Given the description of an element on the screen output the (x, y) to click on. 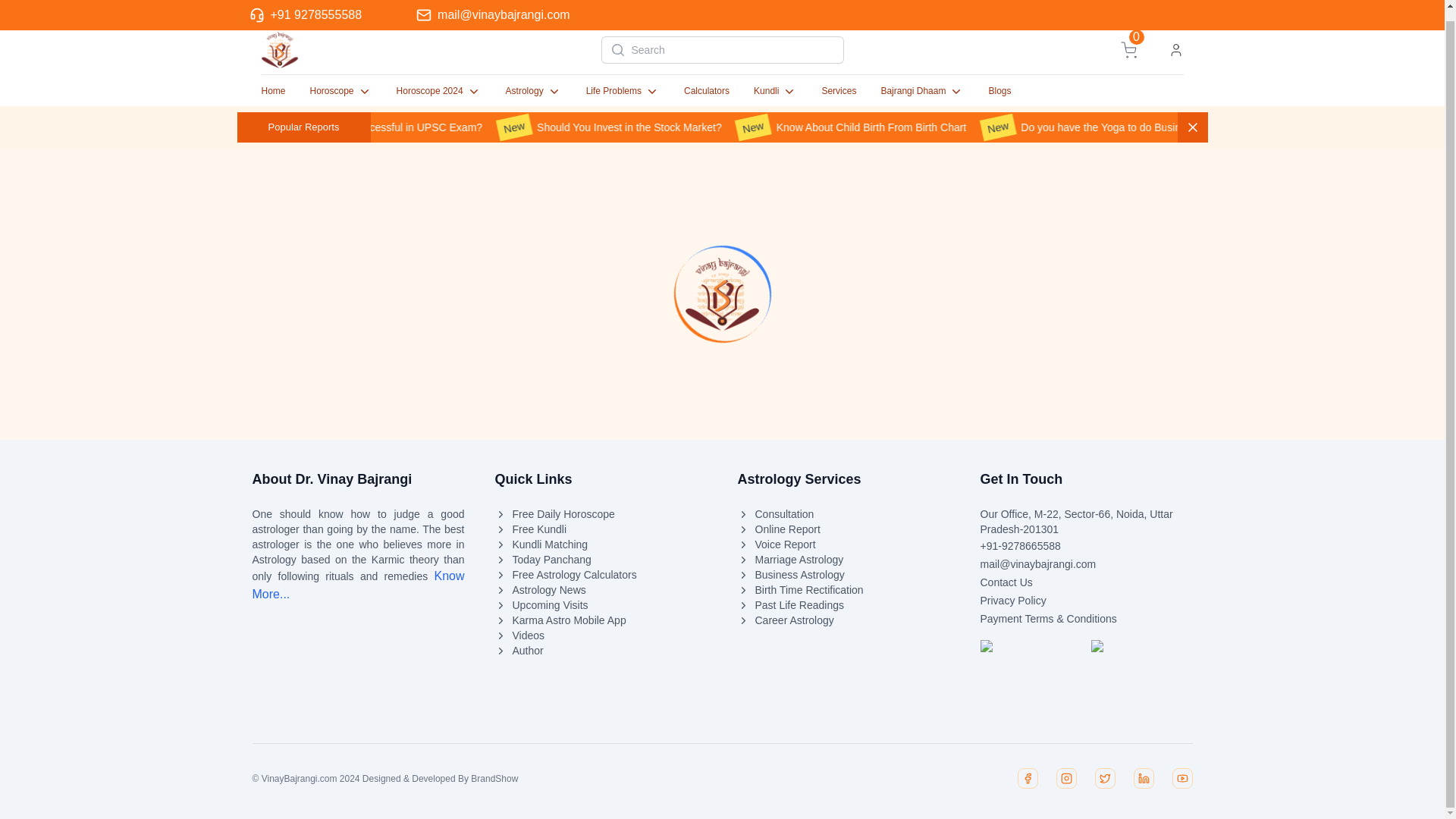
Kundli (1129, 49)
NewWill You be Successful in UPSC Exam? (775, 90)
Bajrangi Dhaam (667, 127)
Calculators (921, 90)
Know More... (706, 90)
Consultation (357, 584)
Should You Invest in the Stock Market? (842, 513)
Astrology (871, 127)
NewShould You Invest in the Stock Market? (533, 90)
